Given the description of an element on the screen output the (x, y) to click on. 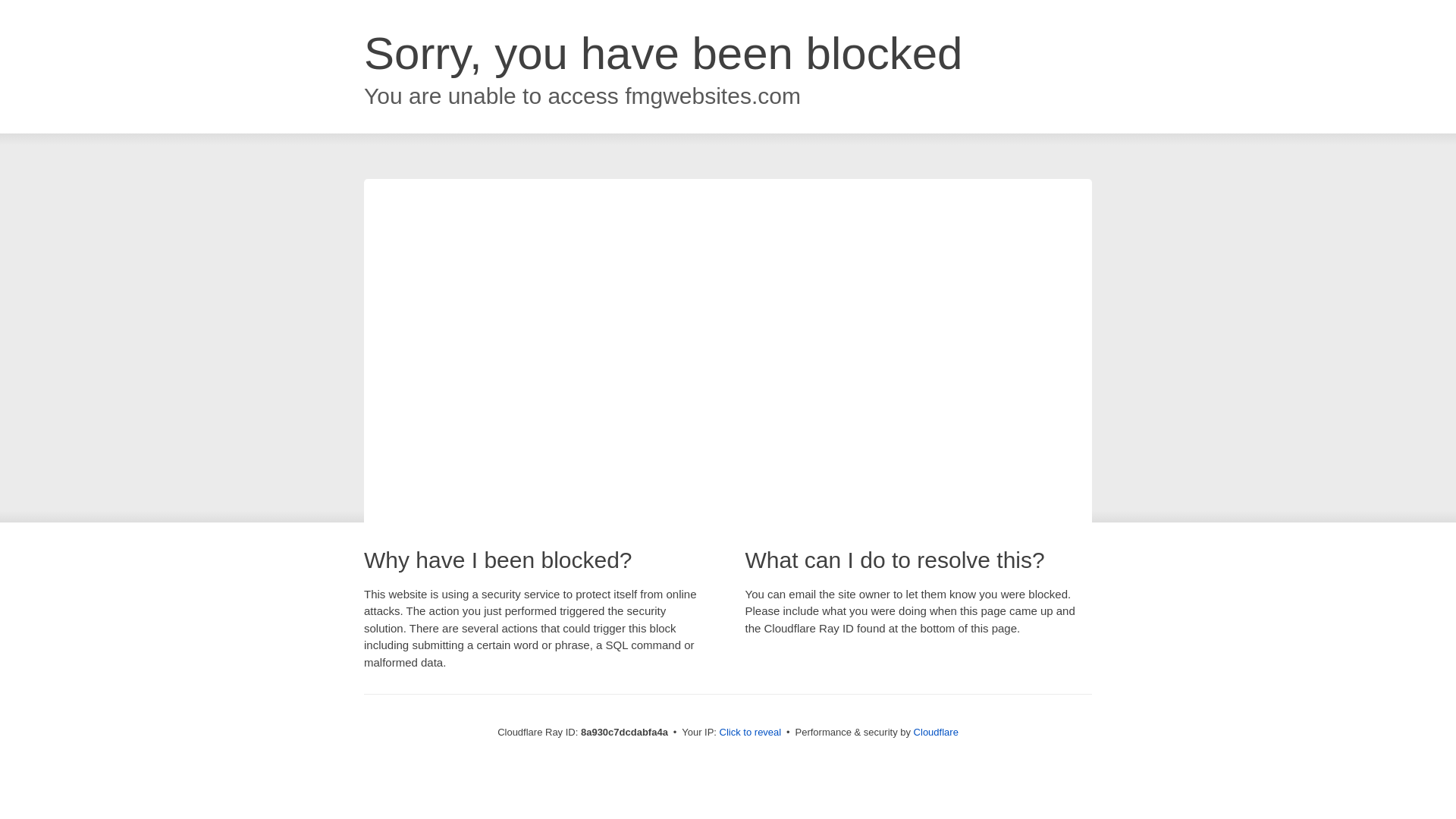
Click to reveal (750, 732)
Cloudflare (936, 731)
